Given the description of an element on the screen output the (x, y) to click on. 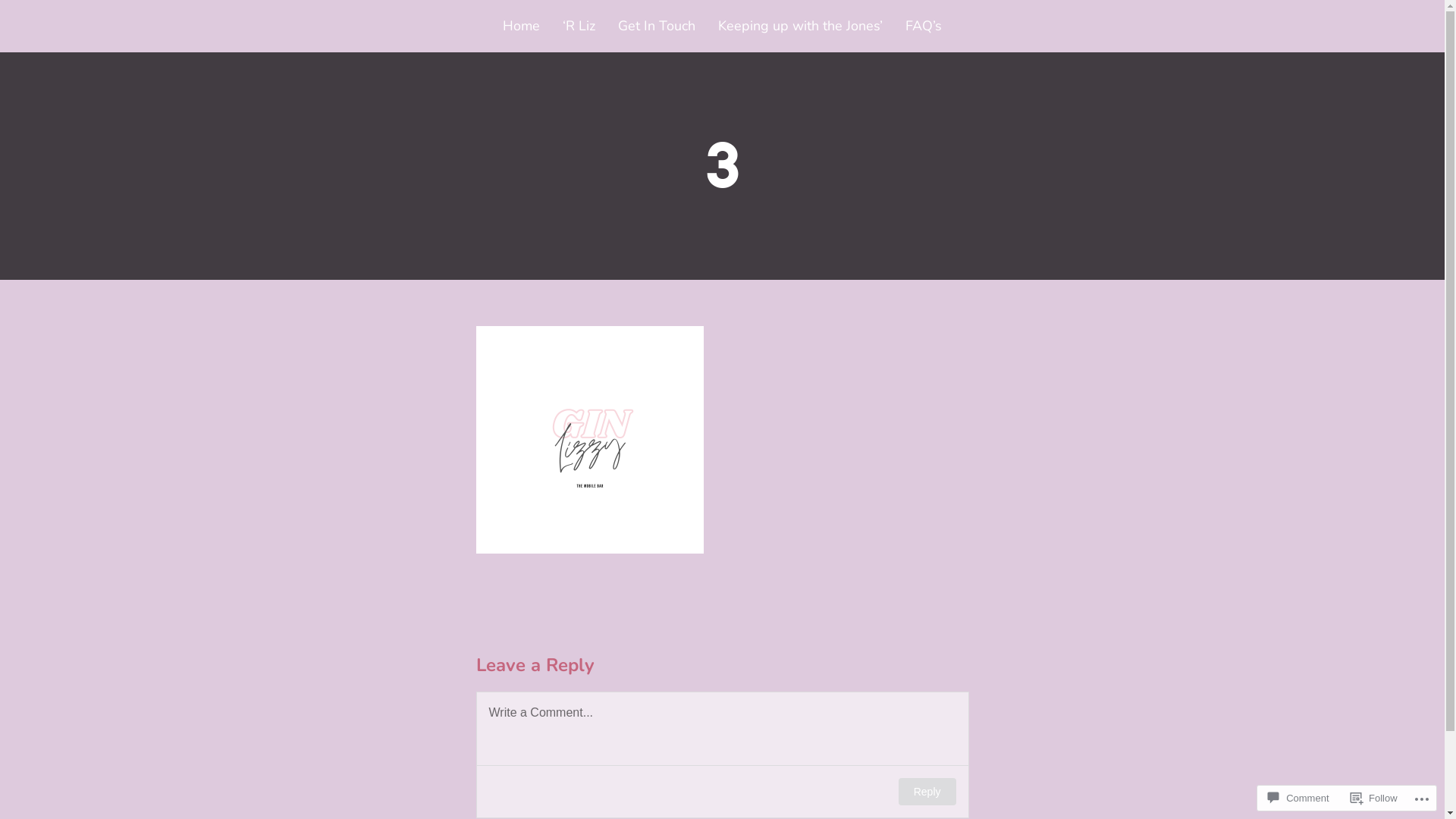
Comment Element type: text (1297, 797)
Get In Touch Element type: text (656, 26)
Follow Element type: text (1373, 797)
Reply Element type: text (927, 791)
Home Element type: text (520, 26)
